Given the description of an element on the screen output the (x, y) to click on. 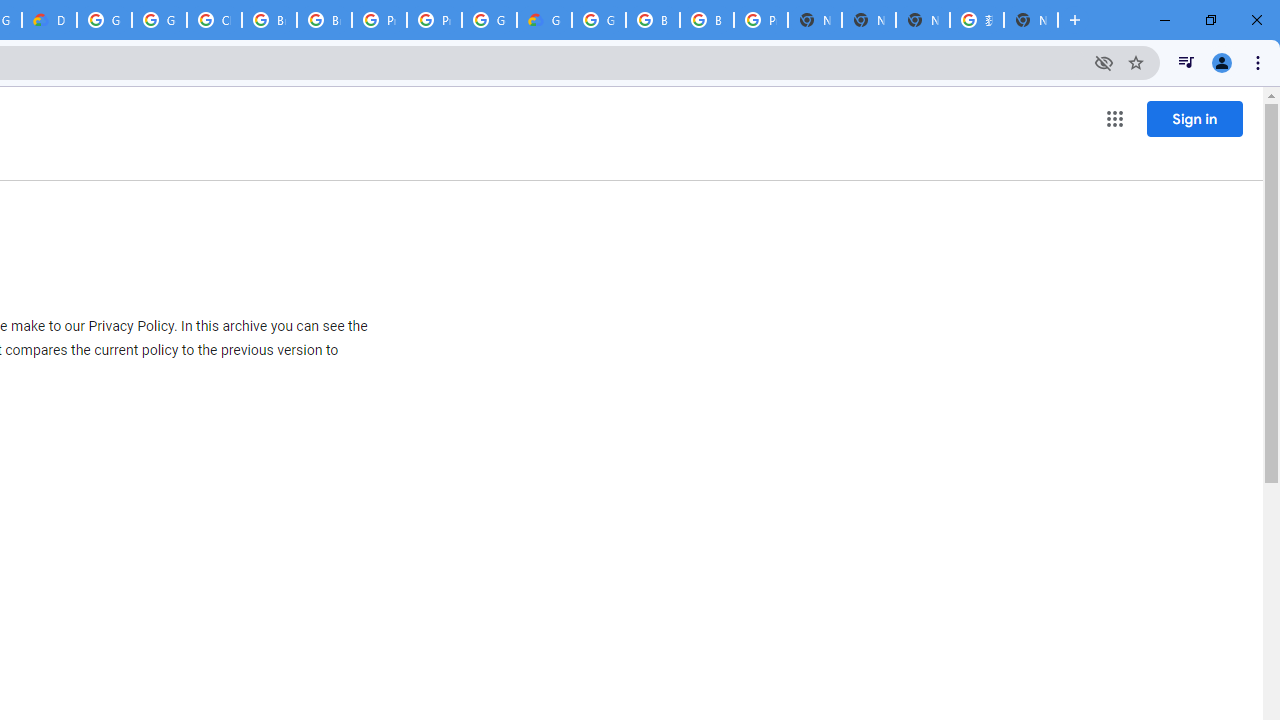
New Tab (1030, 20)
New Tab (815, 20)
Browse Chrome as a guest - Computer - Google Chrome Help (652, 20)
Google Cloud Platform (103, 20)
